Given the description of an element on the screen output the (x, y) to click on. 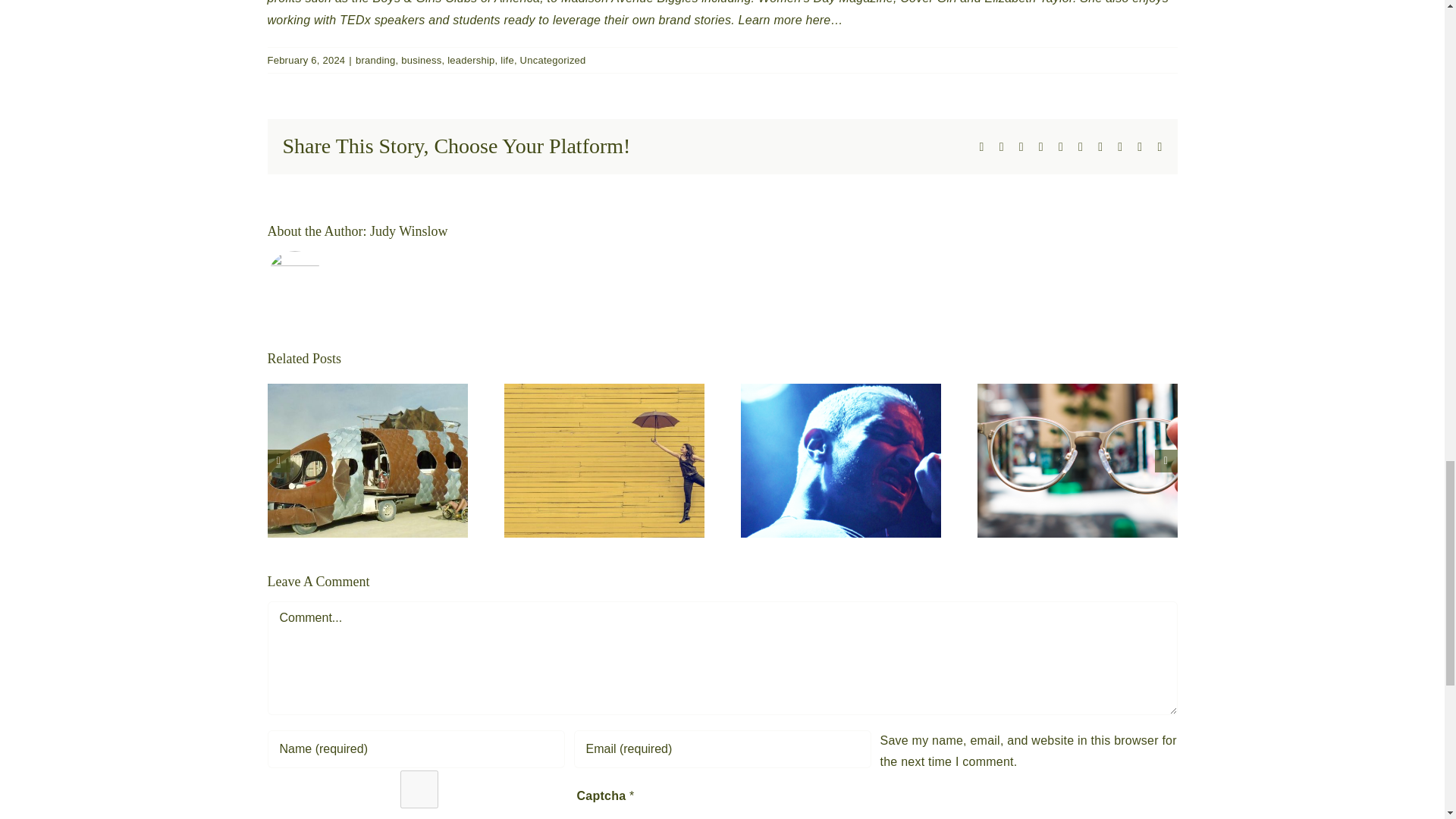
Posts by Judy Winslow (407, 231)
branding (375, 60)
business (421, 60)
leadership (470, 60)
here (818, 19)
Uncategorized (552, 60)
life (506, 60)
yes (418, 789)
